Given the description of an element on the screen output the (x, y) to click on. 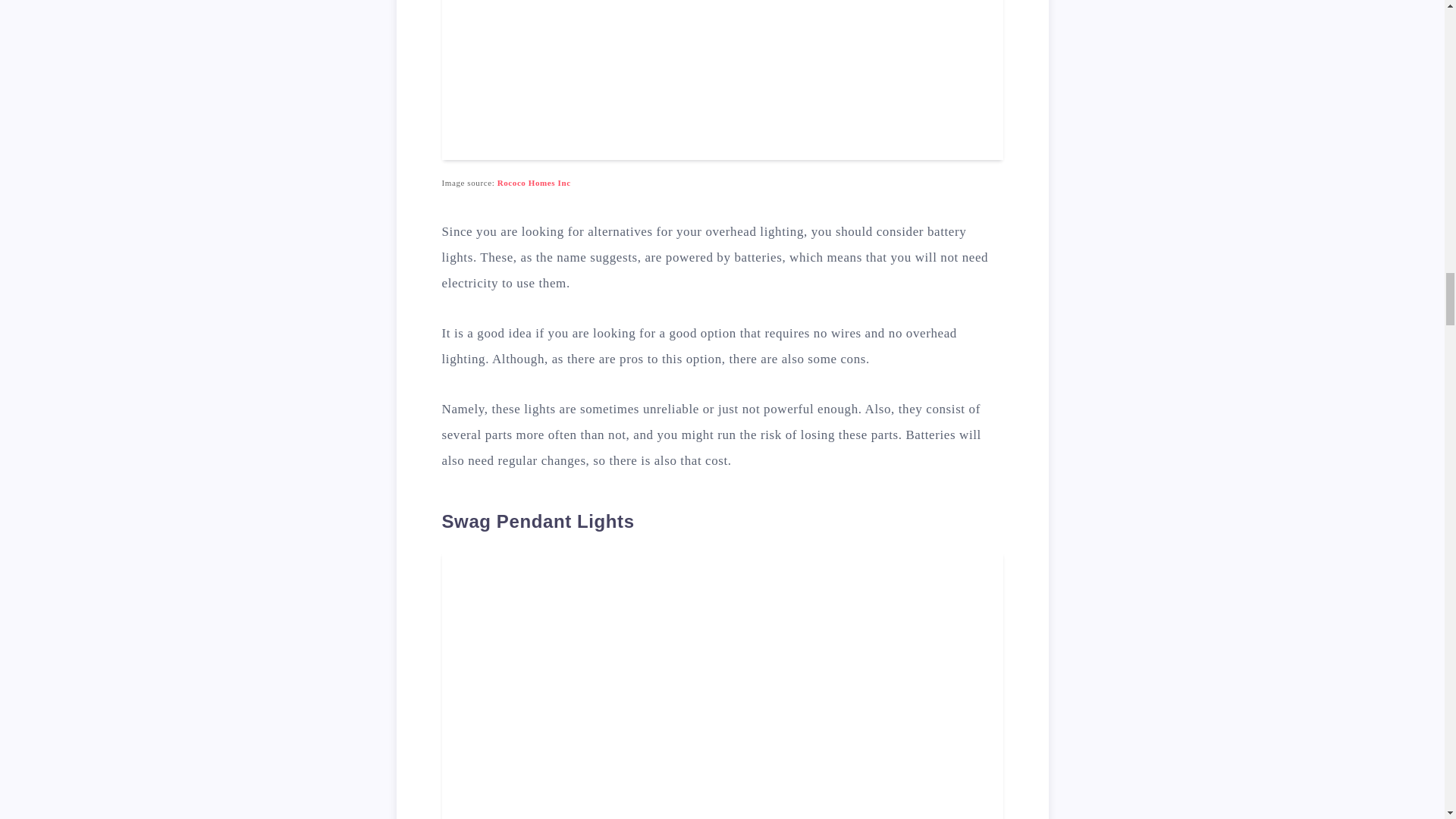
Rococo Homes Inc (533, 182)
